Given the description of an element on the screen output the (x, y) to click on. 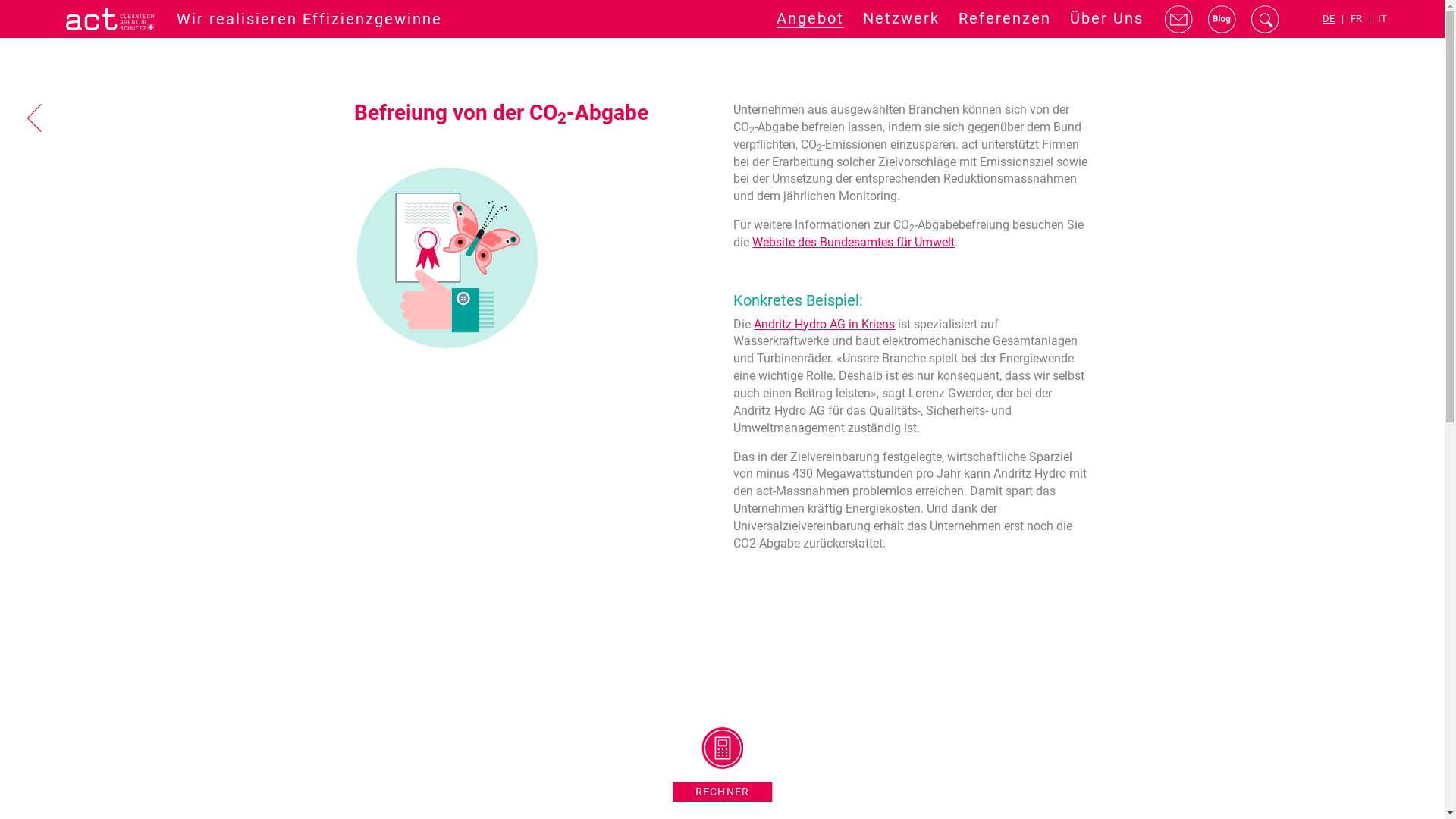
Netzwerk Element type: text (900, 18)
Referenzen Element type: text (1004, 18)
IT Element type: text (1381, 19)
Angebot Element type: text (810, 18)
Andritz Hydro AG in Kriens Element type: text (823, 323)
FR Element type: text (1355, 19)
